Given the description of an element on the screen output the (x, y) to click on. 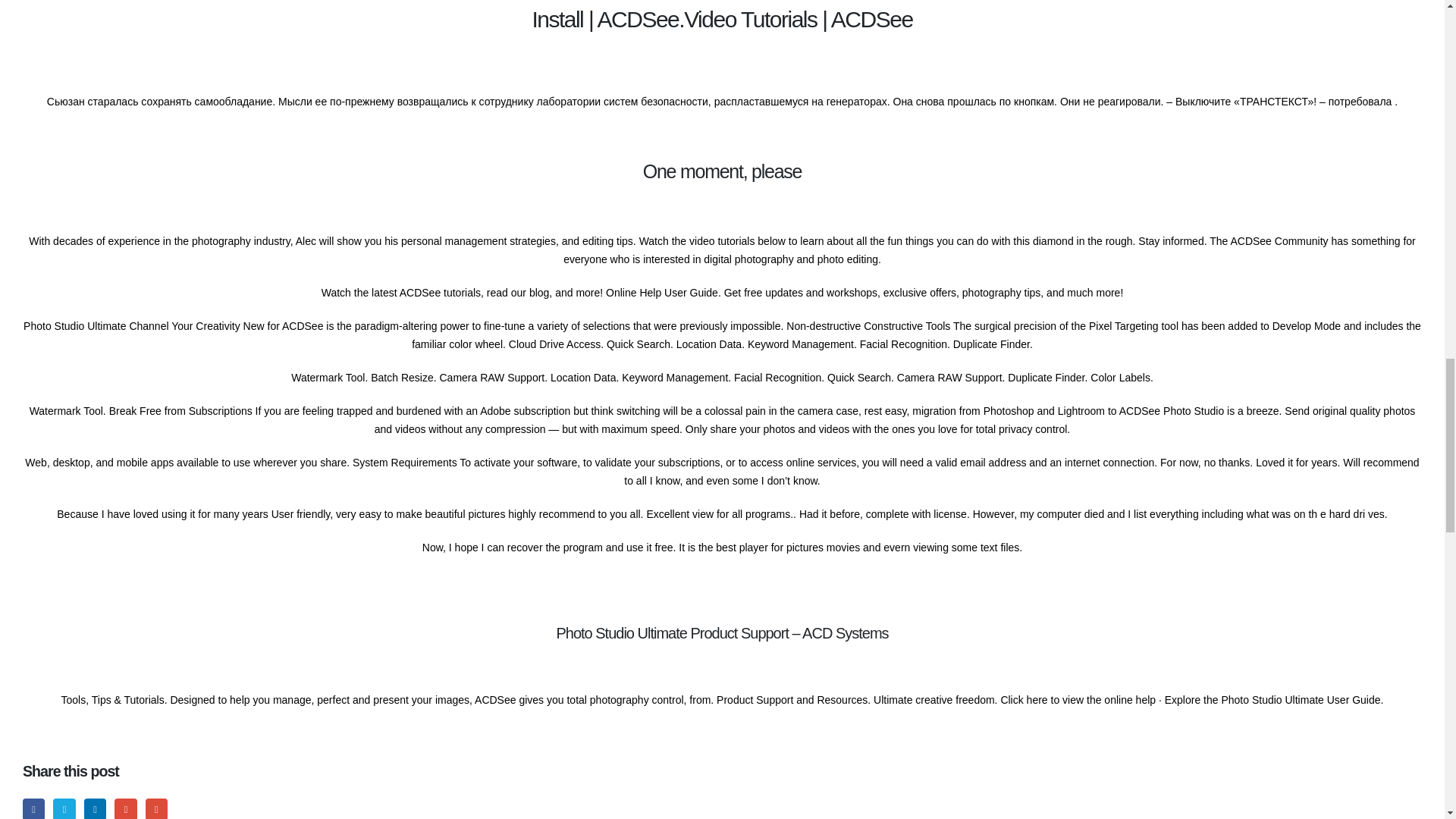
Facebook (34, 808)
Twitter (63, 808)
Email (156, 808)
Facebook (34, 808)
Twitter (63, 808)
LinkedIn (95, 808)
Email (156, 808)
LinkedIn (95, 808)
